Given the description of an element on the screen output the (x, y) to click on. 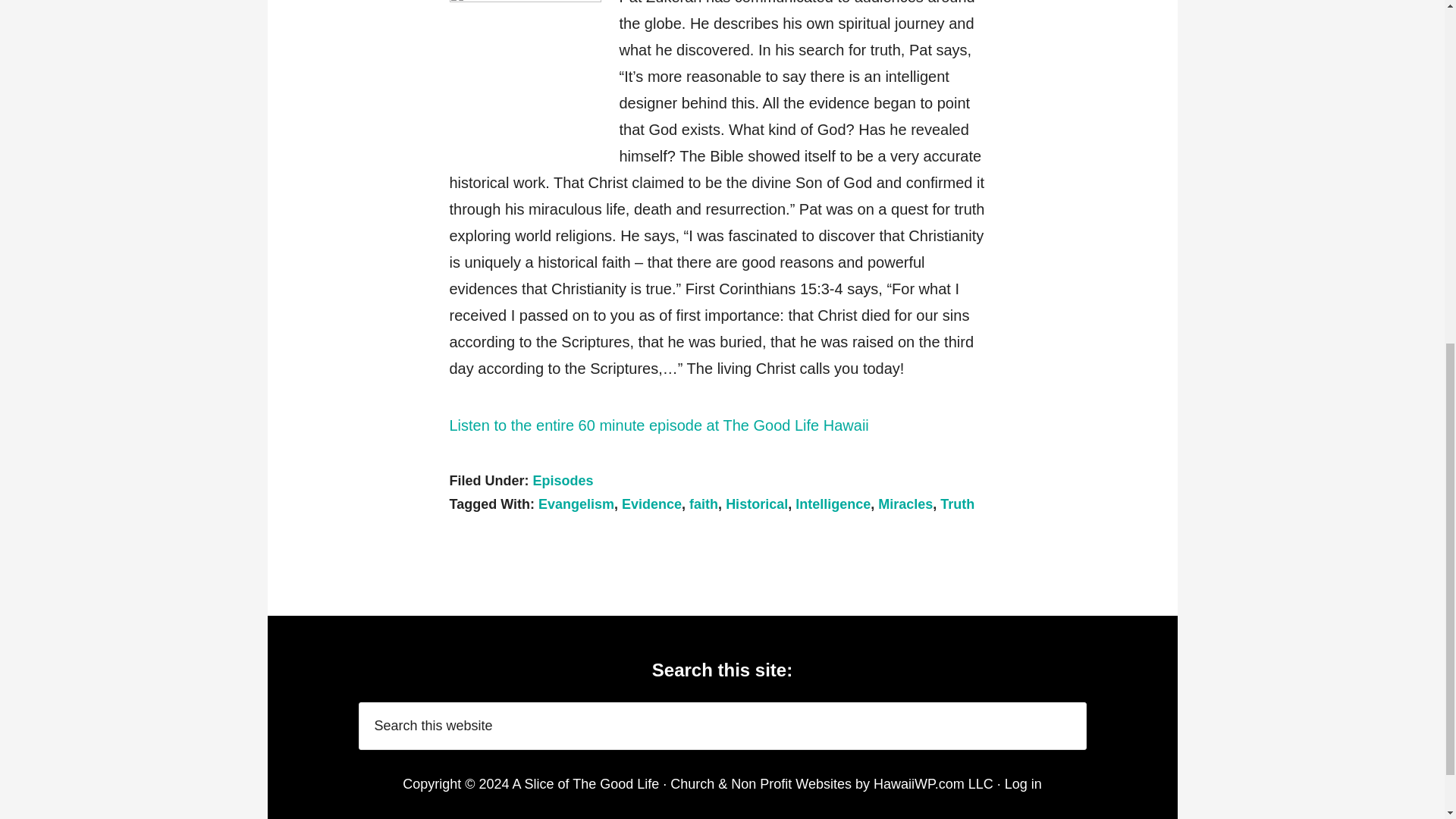
faith (702, 503)
Historical (756, 503)
Truth (957, 503)
Intelligence (832, 503)
Log in (1023, 783)
Miracles (905, 503)
Evidence (651, 503)
